Given the description of an element on the screen output the (x, y) to click on. 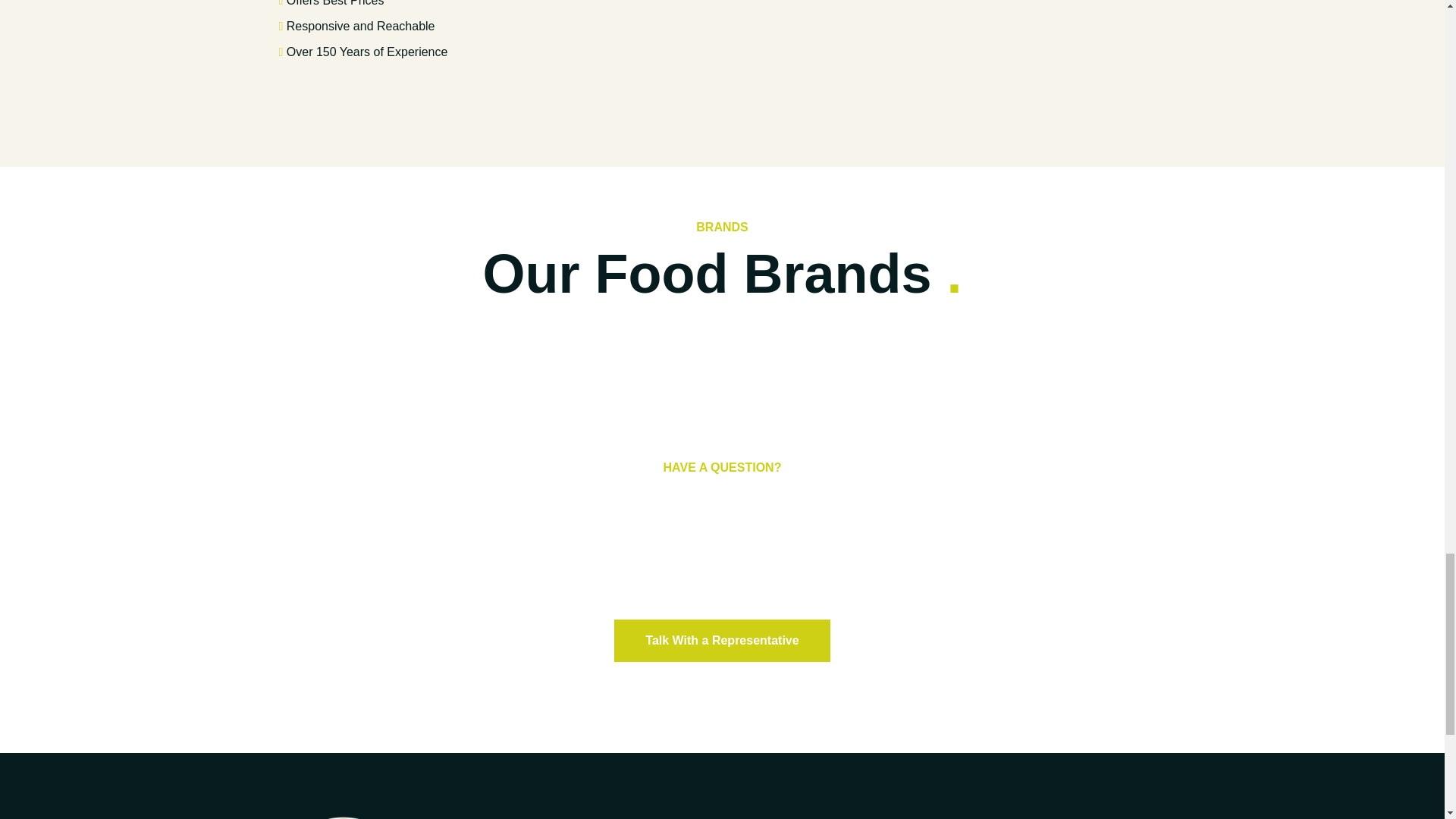
Talk With a Representative (721, 640)
